Given the description of an element on the screen output the (x, y) to click on. 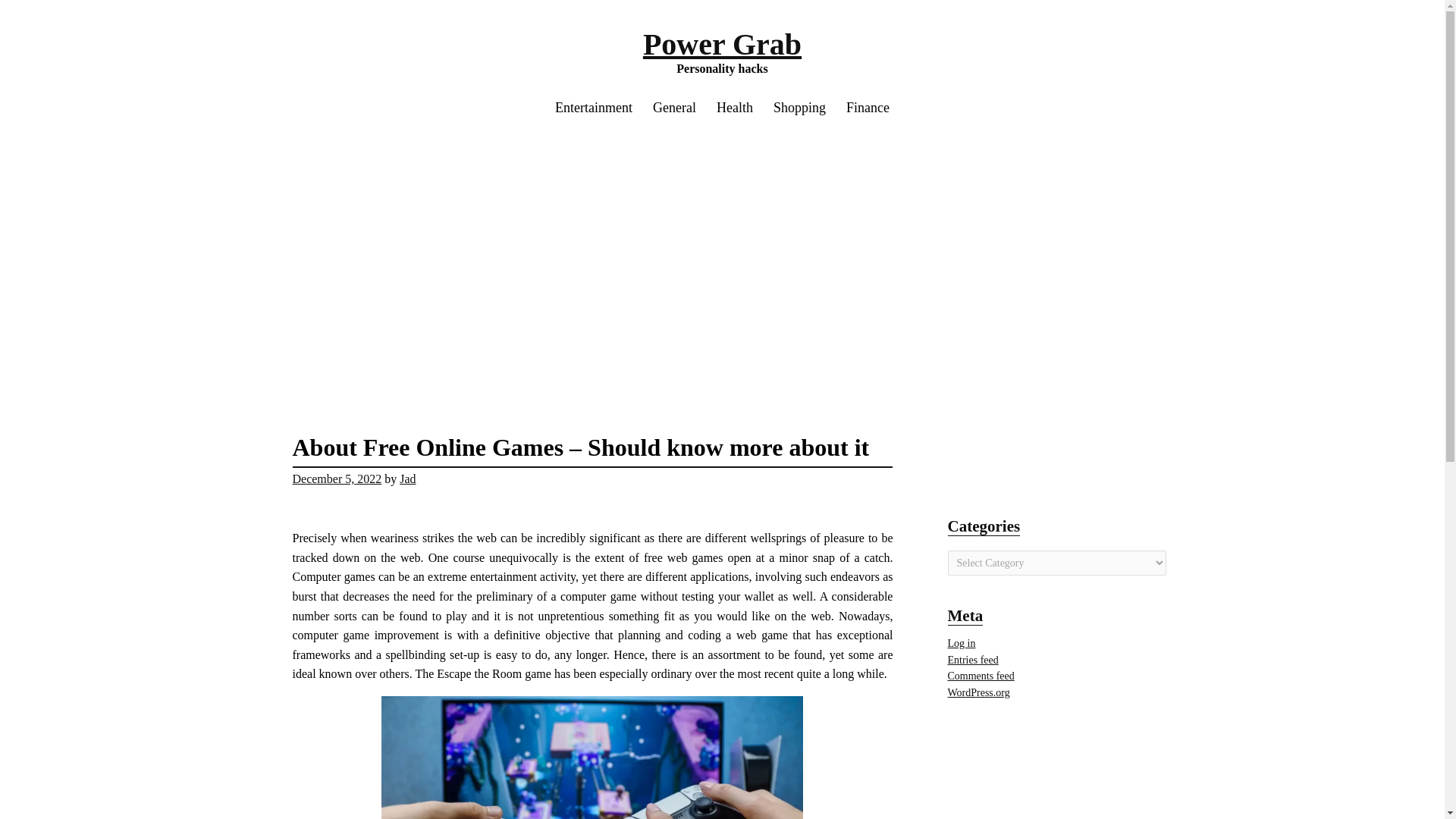
Entries feed (972, 659)
Power Grab (722, 44)
General (674, 107)
Comments feed (980, 675)
WordPress.org (978, 692)
Shopping (798, 107)
Finance (867, 107)
Jad (406, 478)
Log in (961, 643)
December 5, 2022 (336, 478)
